Given the description of an element on the screen output the (x, y) to click on. 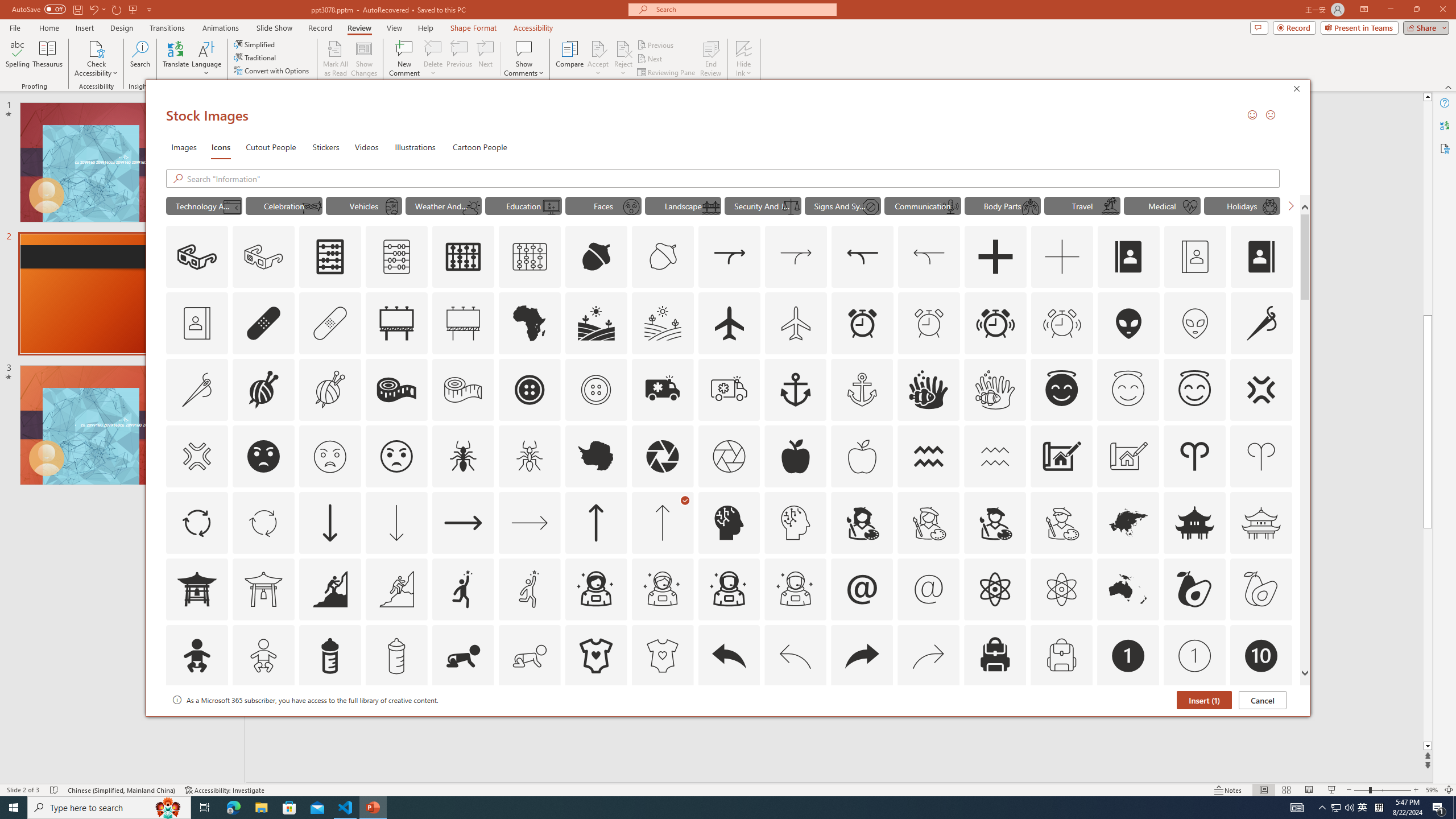
AutomationID: Icons_BabyCrawling_M (529, 655)
AutomationID: Icons_ScalesofJustice_M (790, 206)
AutomationID: Icons_Advertising (397, 323)
AutomationID: Icons_AddressBook_RTL (1261, 256)
Zoom 59% (1431, 790)
AutomationID: Icons_AlterationsTailoring1_M (329, 389)
AutomationID: Icons_3dGlasses_M (263, 256)
